Given the description of an element on the screen output the (x, y) to click on. 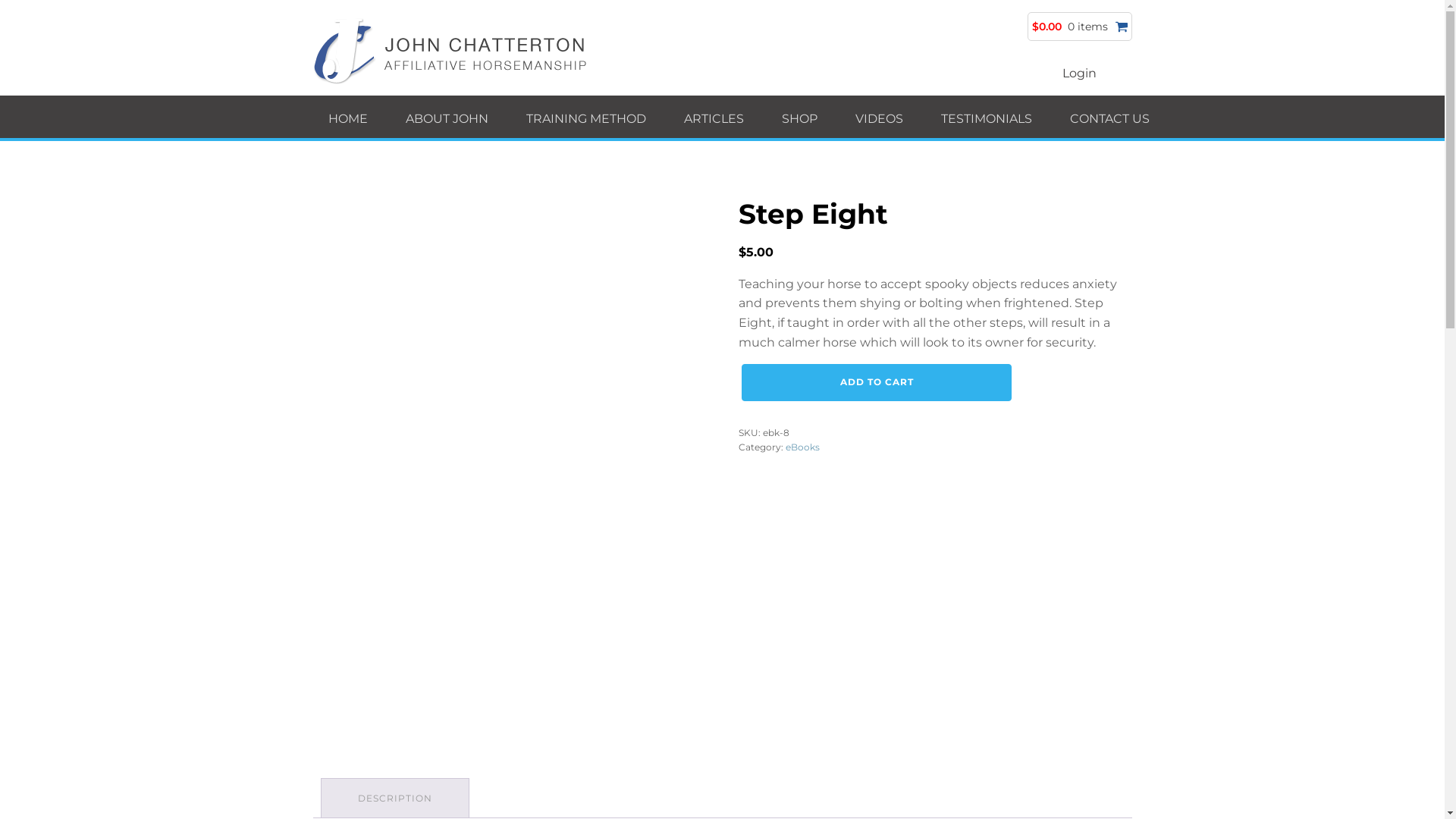
Login Element type: text (1079, 69)
ABOUT JOHN Element type: text (449, 116)
CONTACT US Element type: text (1112, 116)
ARTICLES Element type: text (717, 116)
ADD TO CART Element type: text (876, 382)
VIDEOS Element type: text (882, 116)
eBooks Element type: text (802, 446)
SHOP Element type: text (802, 116)
HOME Element type: text (350, 116)
TESTIMONIALS Element type: text (989, 116)
TRAINING METHOD Element type: text (589, 116)
DESCRIPTION Element type: text (394, 797)
